Given the description of an element on the screen output the (x, y) to click on. 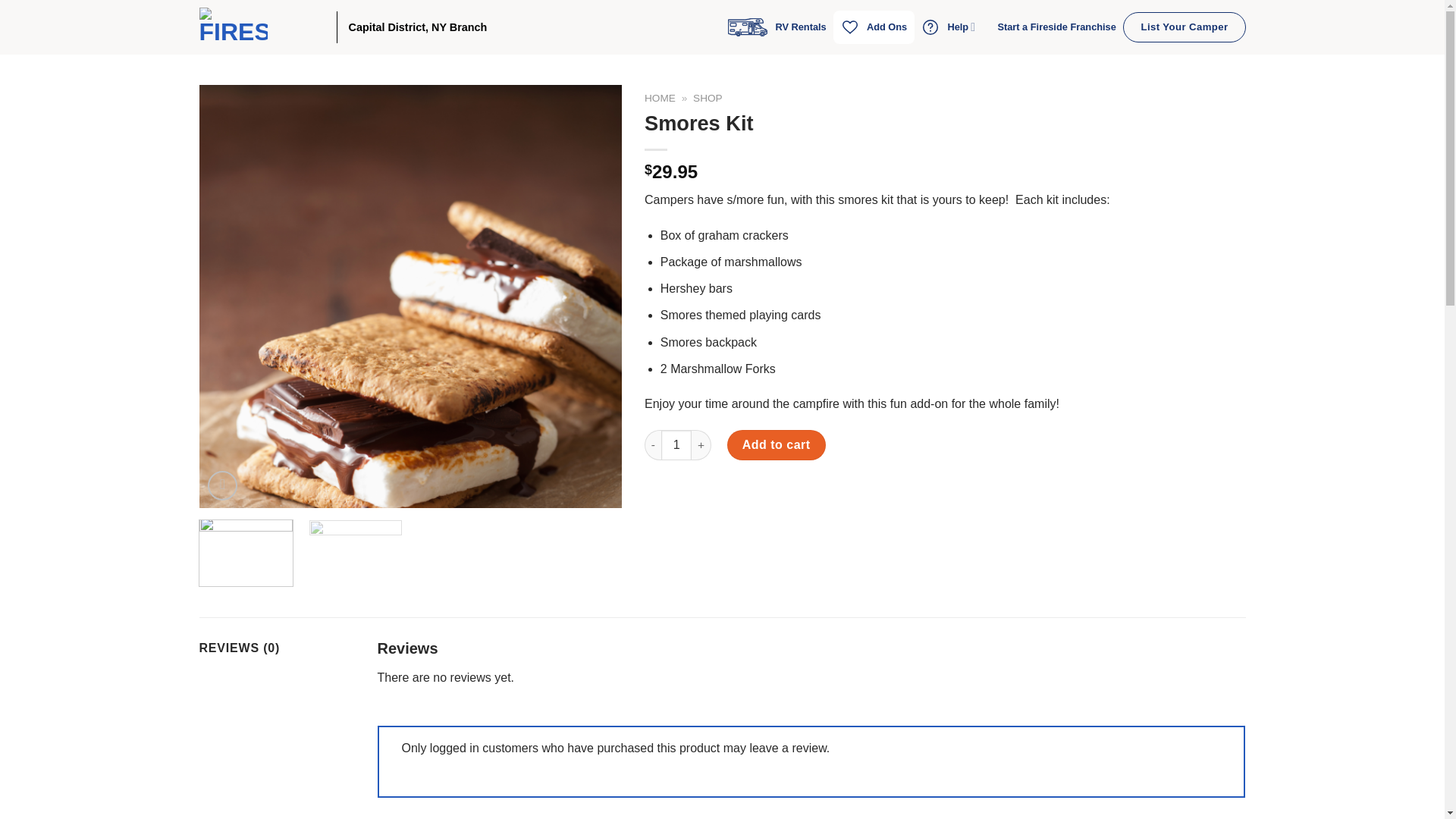
Help (952, 27)
SHOP (707, 98)
Add Ons (873, 27)
HOME (660, 98)
Start a Fireside Franchise (1057, 27)
Fireside RV Rental - Capital District, NY (264, 27)
List Your Camper (1183, 27)
Add to cart (775, 444)
Zoom (222, 485)
Qty (676, 444)
RV Rentals (777, 27)
1 (676, 444)
